Given the description of an element on the screen output the (x, y) to click on. 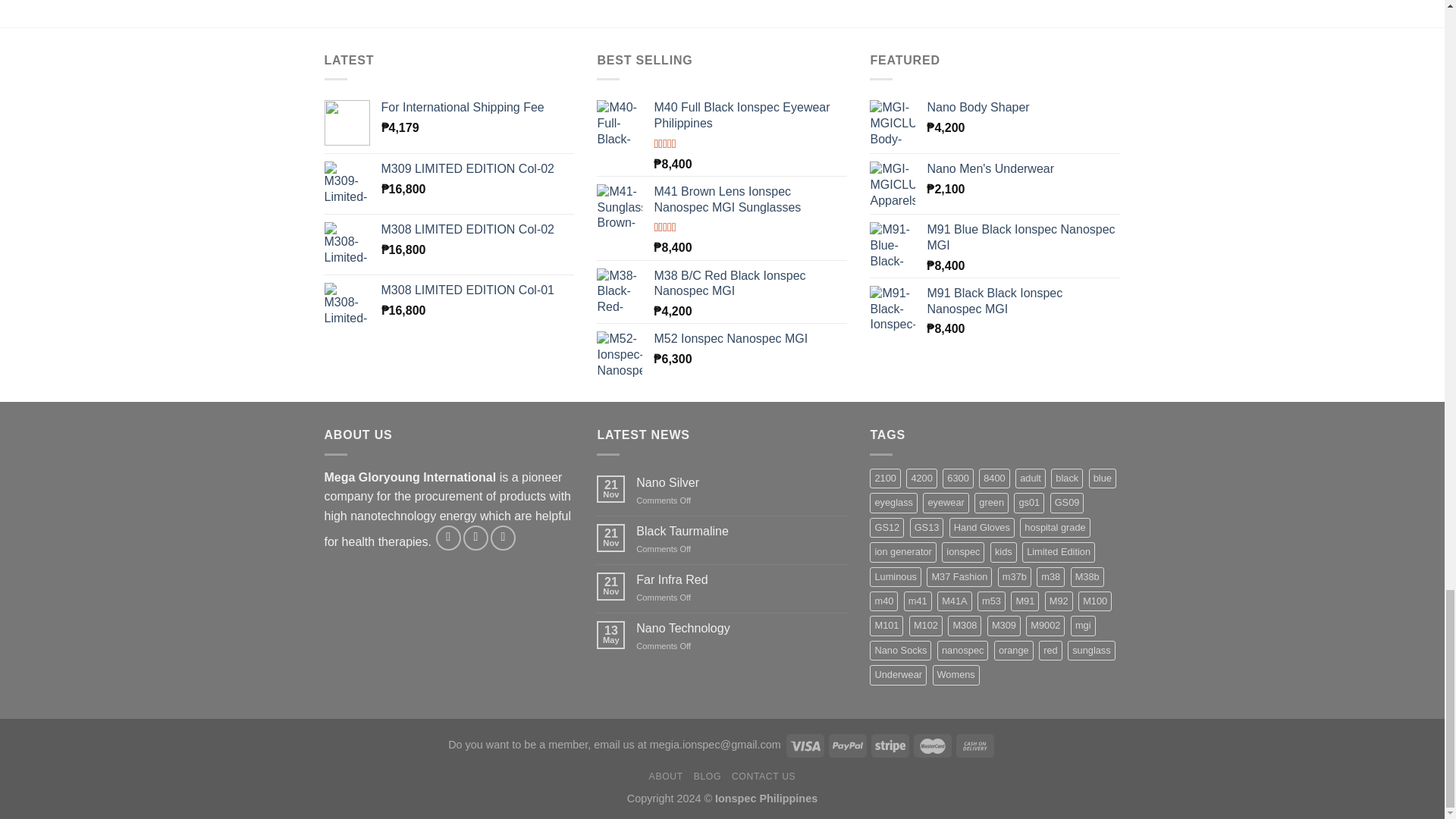
Follow on Facebook (448, 537)
Send us an email (475, 537)
Nano Silver (741, 482)
Black Taurmaline (741, 531)
Follow on YouTube (502, 537)
